Given the description of an element on the screen output the (x, y) to click on. 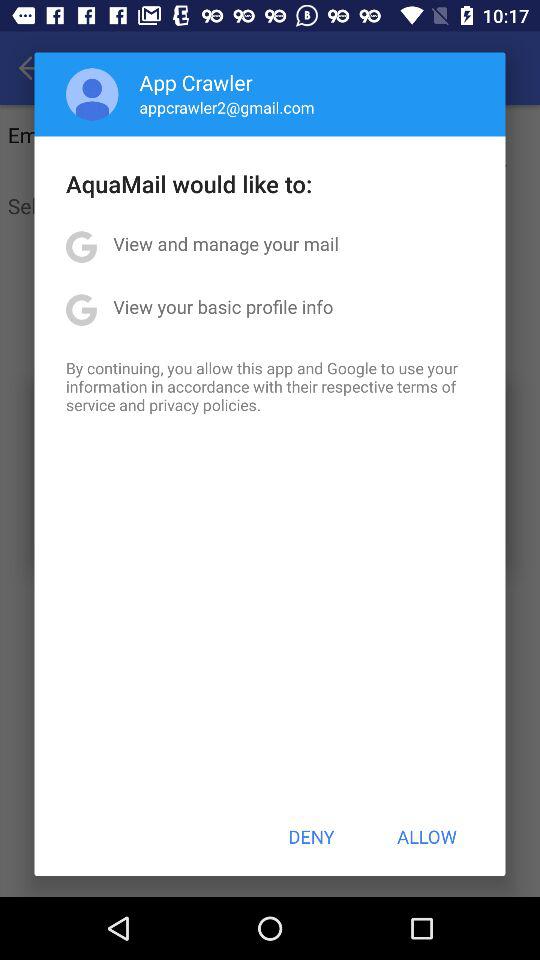
open the icon to the left of allow (311, 836)
